Given the description of an element on the screen output the (x, y) to click on. 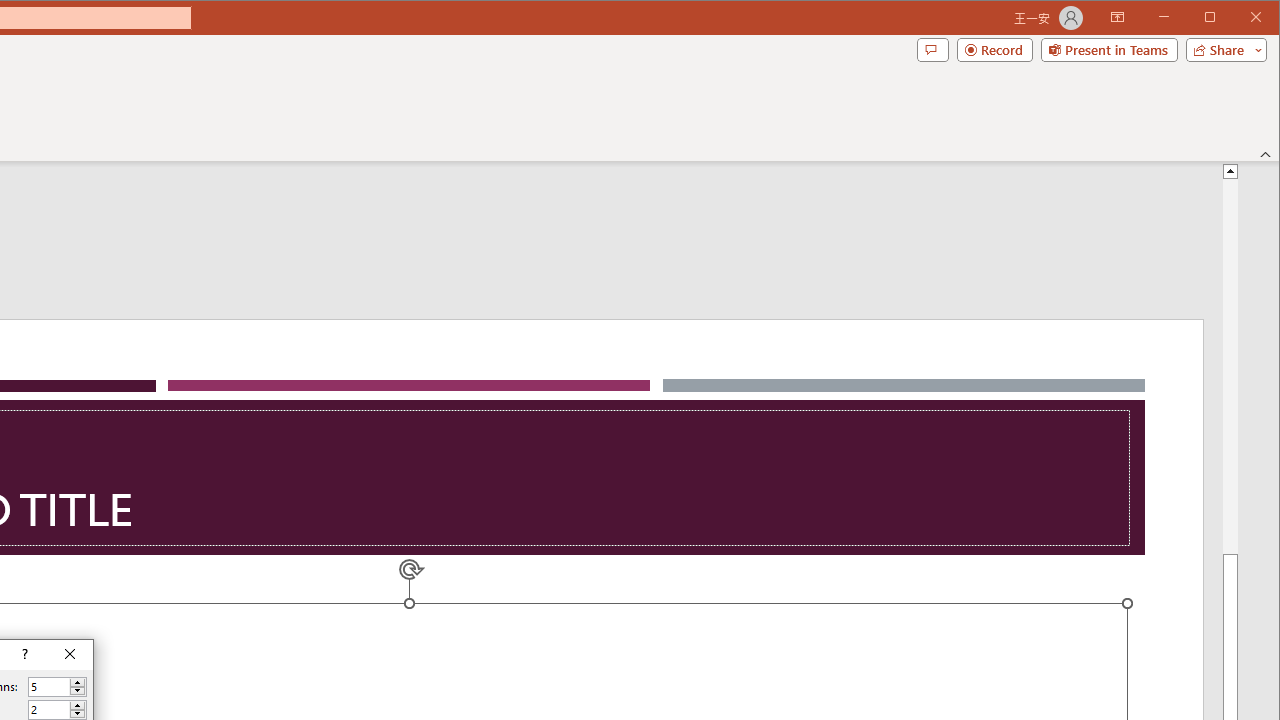
Number of columns (57, 686)
Number of rows (49, 710)
Number of columns (49, 687)
Number of rows (57, 709)
Maximize (1238, 18)
Less (77, 714)
Context help (23, 655)
